Given the description of an element on the screen output the (x, y) to click on. 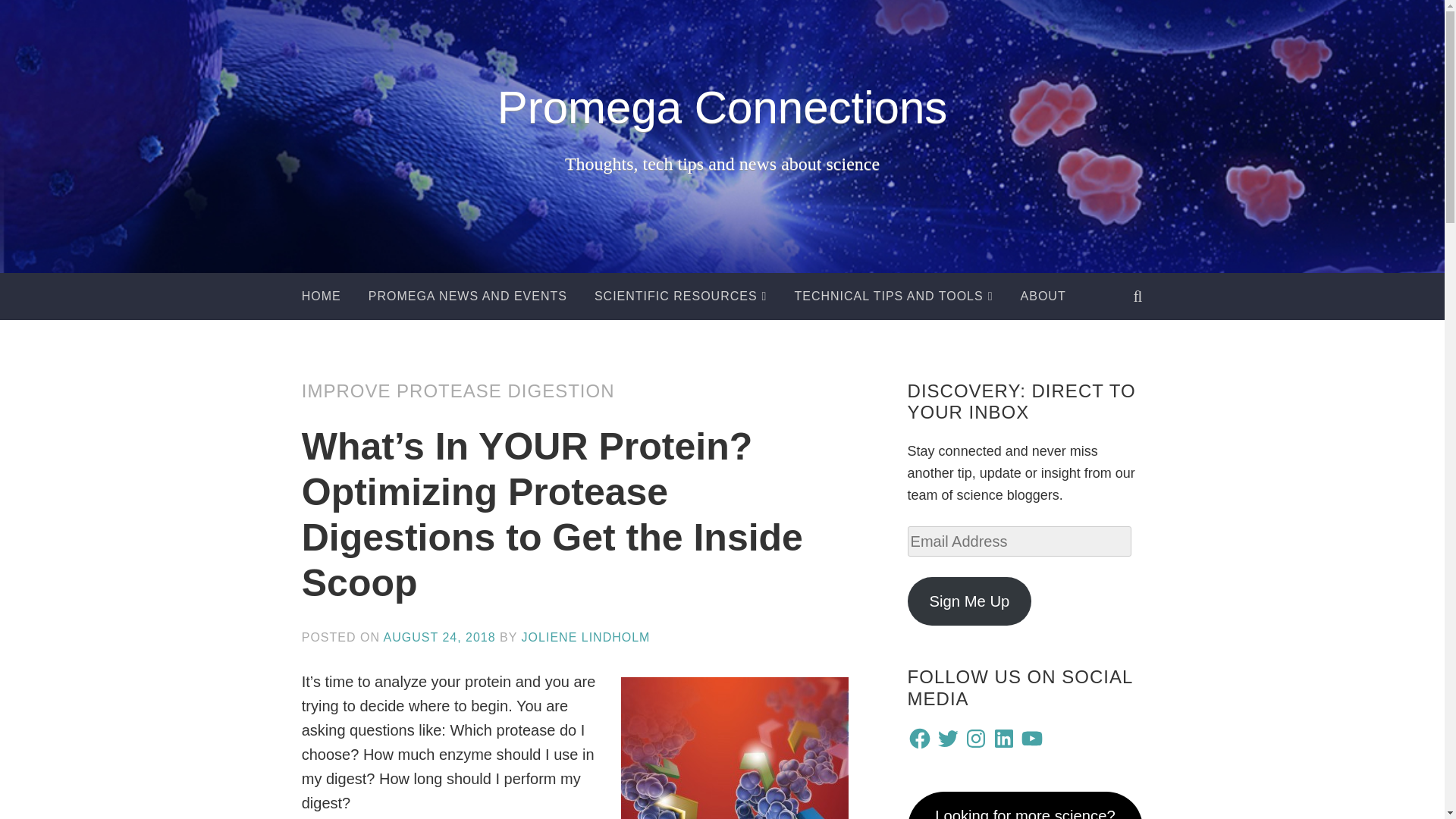
PROMEGA NEWS AND EVENTS (467, 296)
ABOUT (1042, 296)
TECHNICAL TIPS AND TOOLS (892, 296)
JOLIENE LINDHOLM (585, 636)
HOME (320, 296)
AUGUST 24, 2018 (440, 636)
SCIENTIFIC RESOURCES (680, 296)
Promega Connections (722, 106)
